Given the description of an element on the screen output the (x, y) to click on. 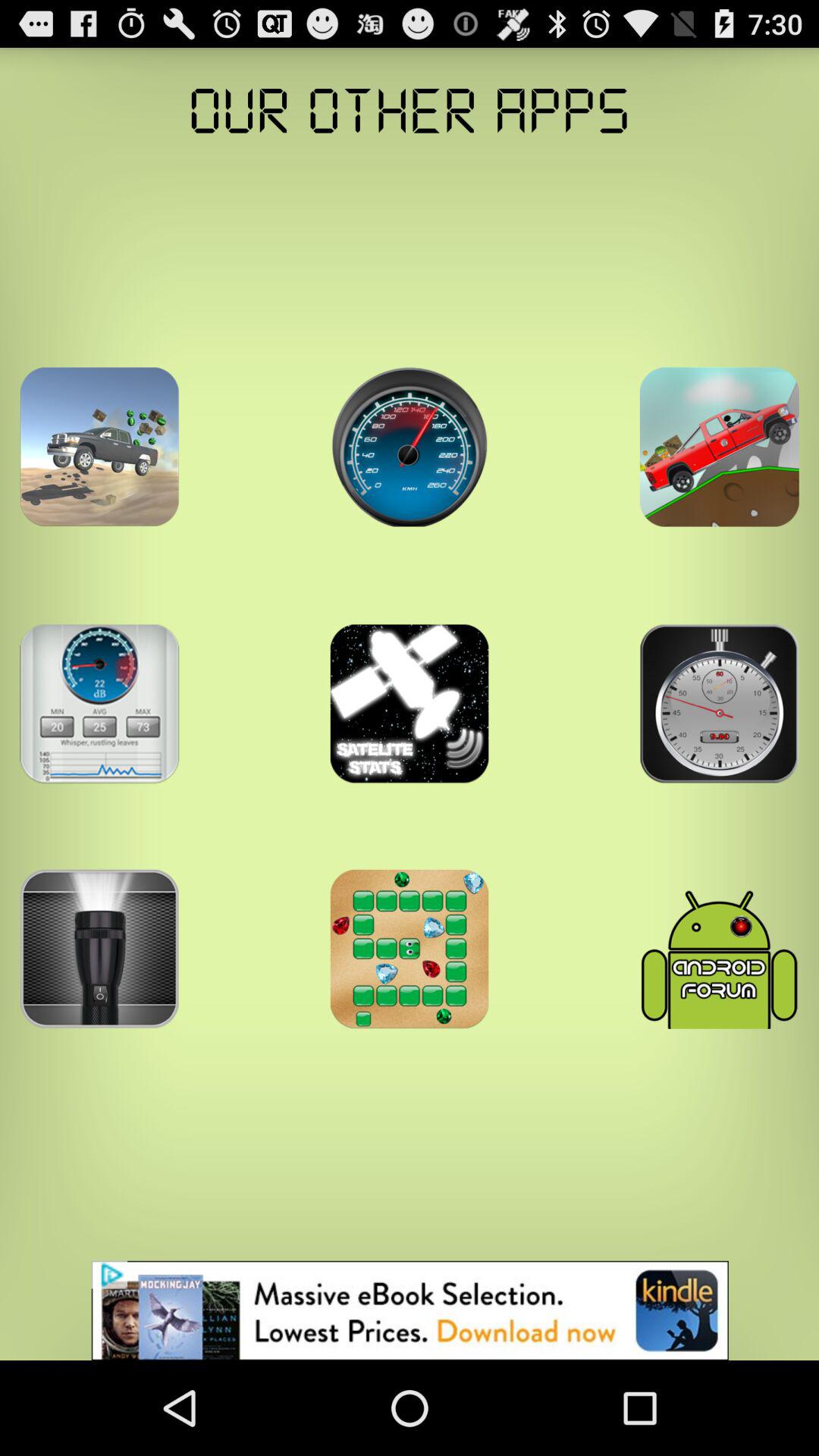
select app (99, 446)
